Given the description of an element on the screen output the (x, y) to click on. 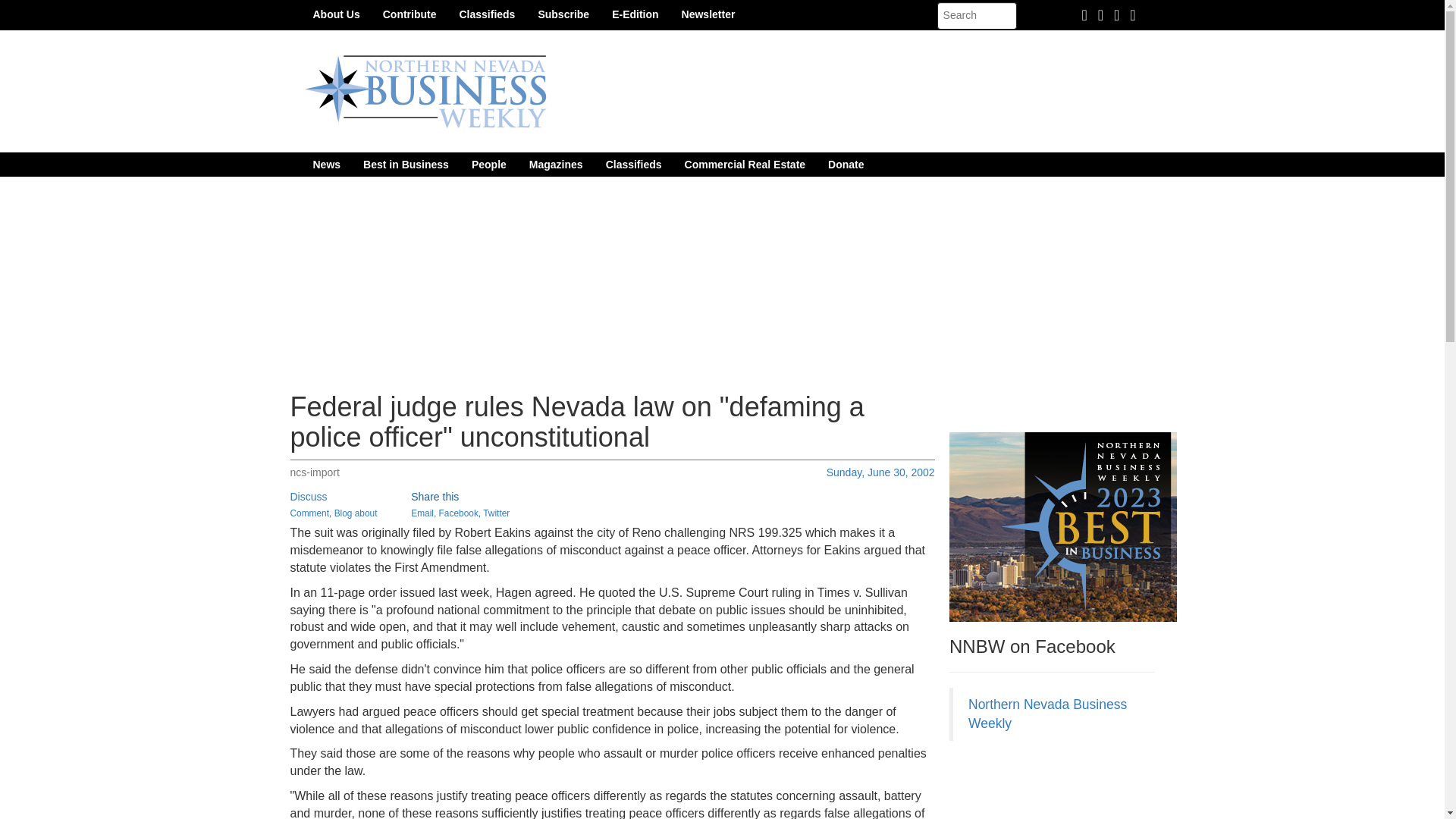
Best in Business (406, 164)
News (326, 164)
Sunday, June 30, 2002 (880, 472)
People (489, 164)
Email, (422, 512)
3rd party ad content (1062, 787)
Newsletter (707, 14)
Blog about (355, 512)
Commercial Real Estate (744, 164)
Comment (309, 512)
Contribute (409, 14)
Subscribe (562, 14)
Twitter (496, 512)
Donate (845, 164)
Classifieds (633, 164)
